Given the description of an element on the screen output the (x, y) to click on. 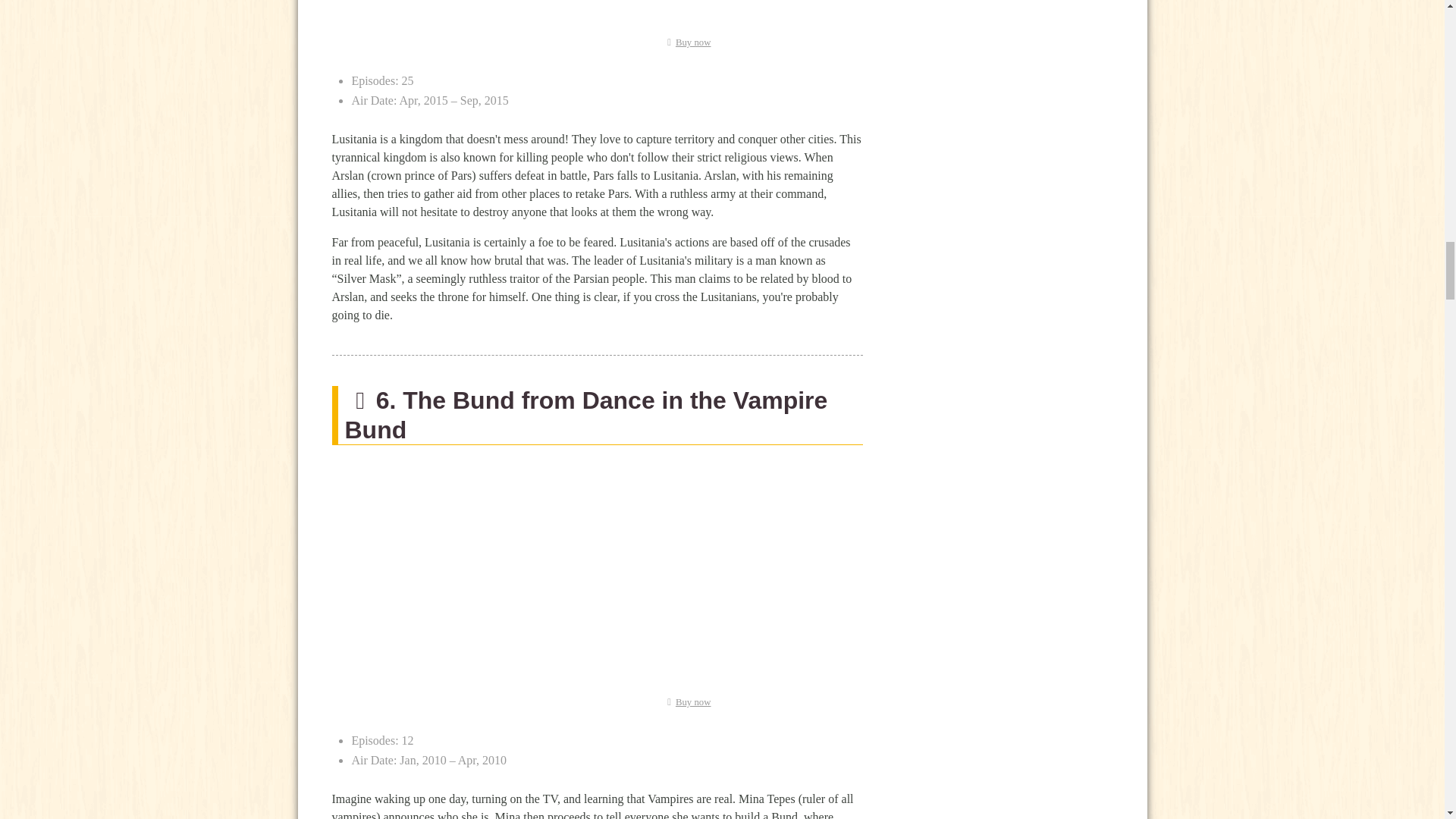
Buy now (686, 41)
Buy now (686, 701)
